Given the description of an element on the screen output the (x, y) to click on. 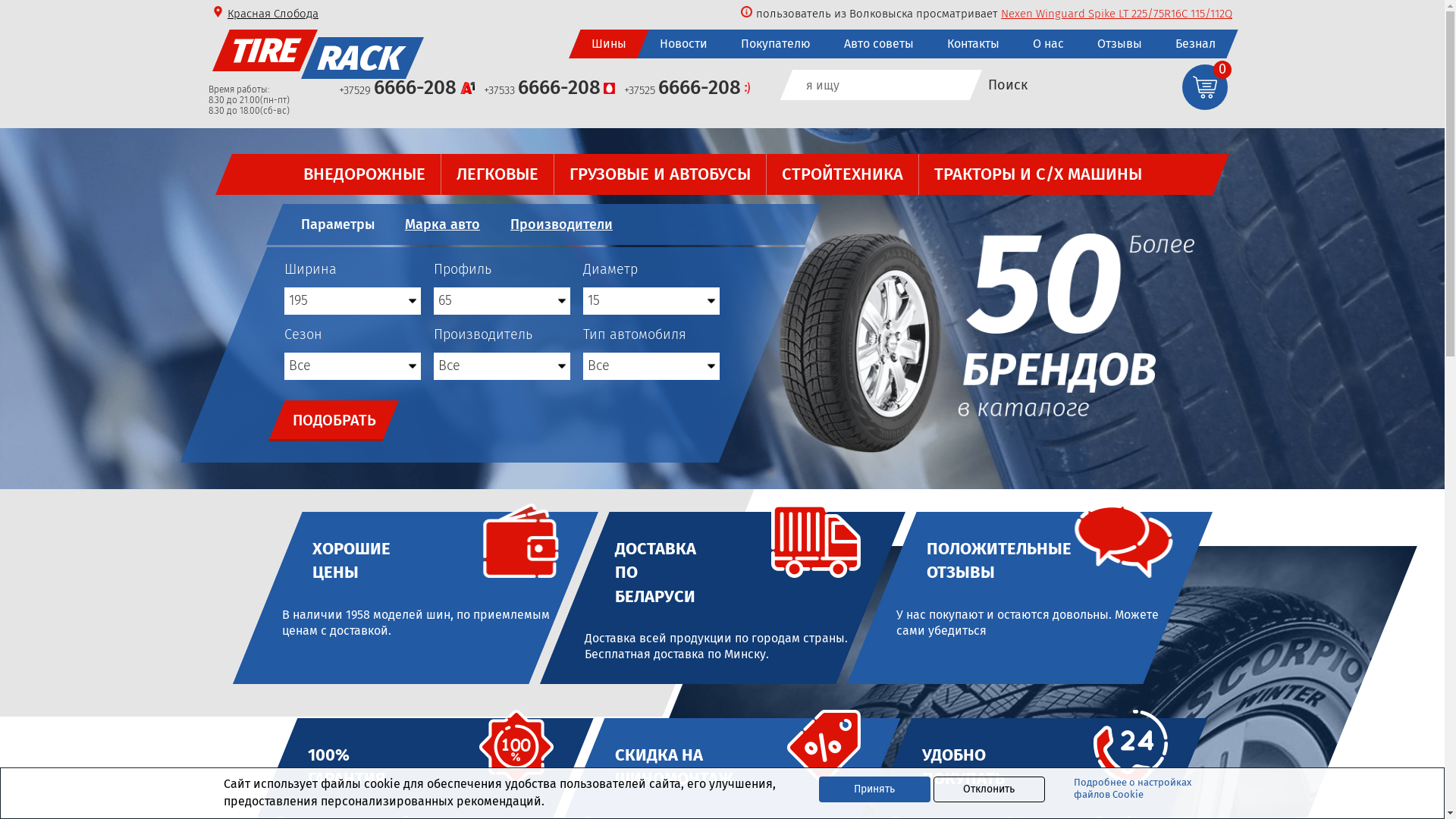
+37529 6666-208 Element type: text (406, 89)
+37525 6666-208 Element type: text (686, 89)
Arivo Winmaster ProX ARW3 215/65R16 98T Element type: text (1124, 13)
+37533 6666-208 Element type: text (549, 89)
